Given the description of an element on the screen output the (x, y) to click on. 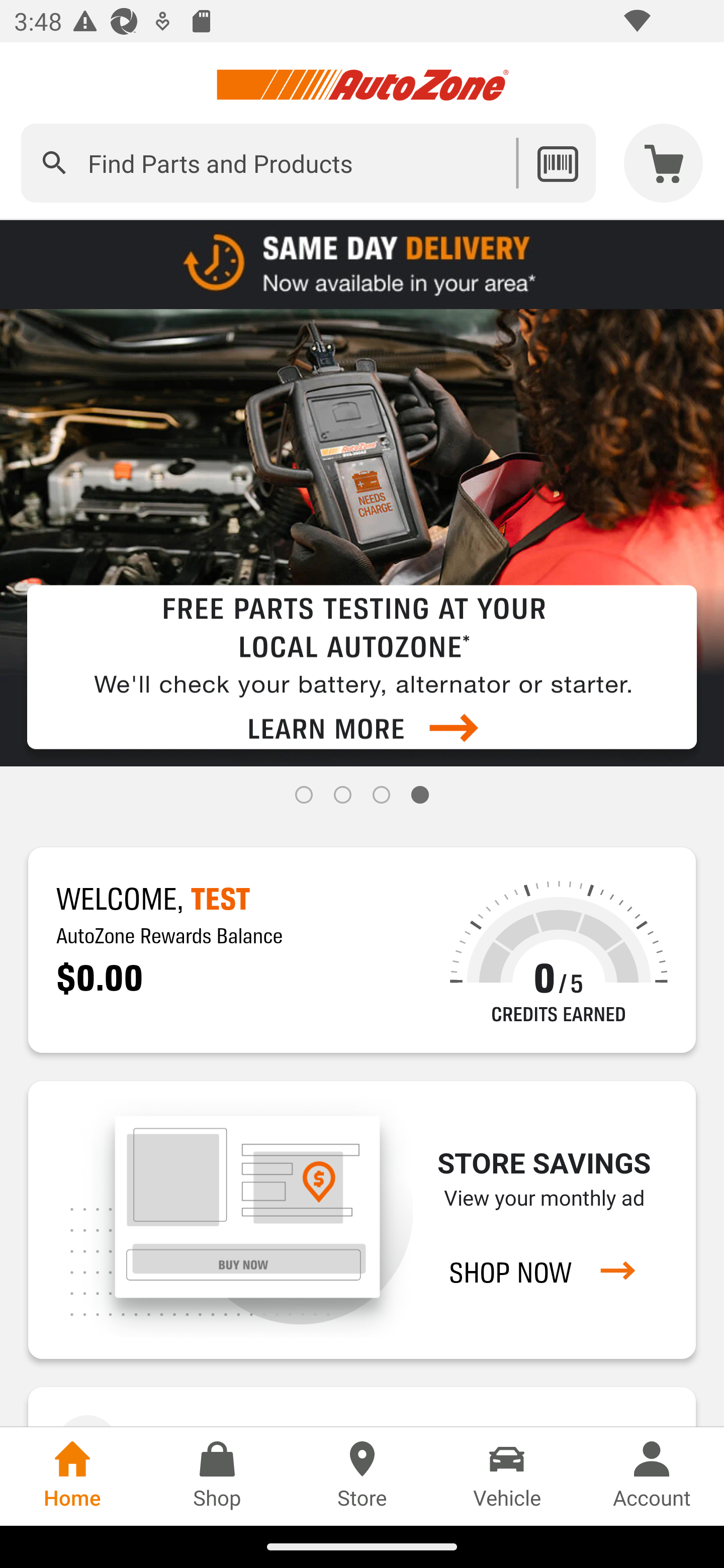
 scan-product-to-search  (557, 162)
 (54, 163)
Cart, no items  (663, 162)
Same Day Delivery - now available in your area* (362, 262)
Home (72, 1475)
Shop (216, 1475)
Store (361, 1475)
Vehicle (506, 1475)
Account (651, 1475)
